Given the description of an element on the screen output the (x, y) to click on. 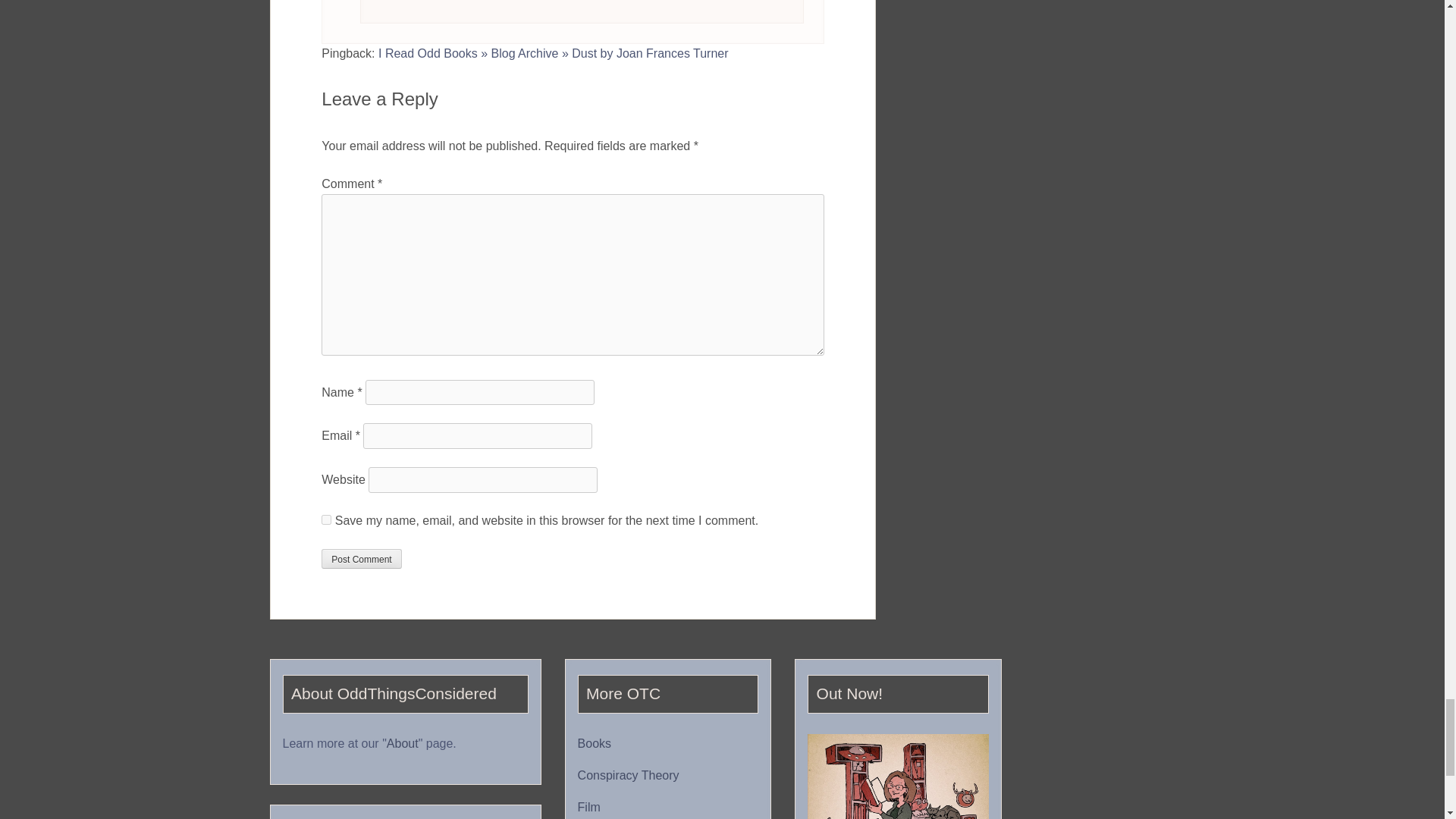
yes (326, 519)
Post Comment (361, 558)
Post Comment (361, 558)
